Given the description of an element on the screen output the (x, y) to click on. 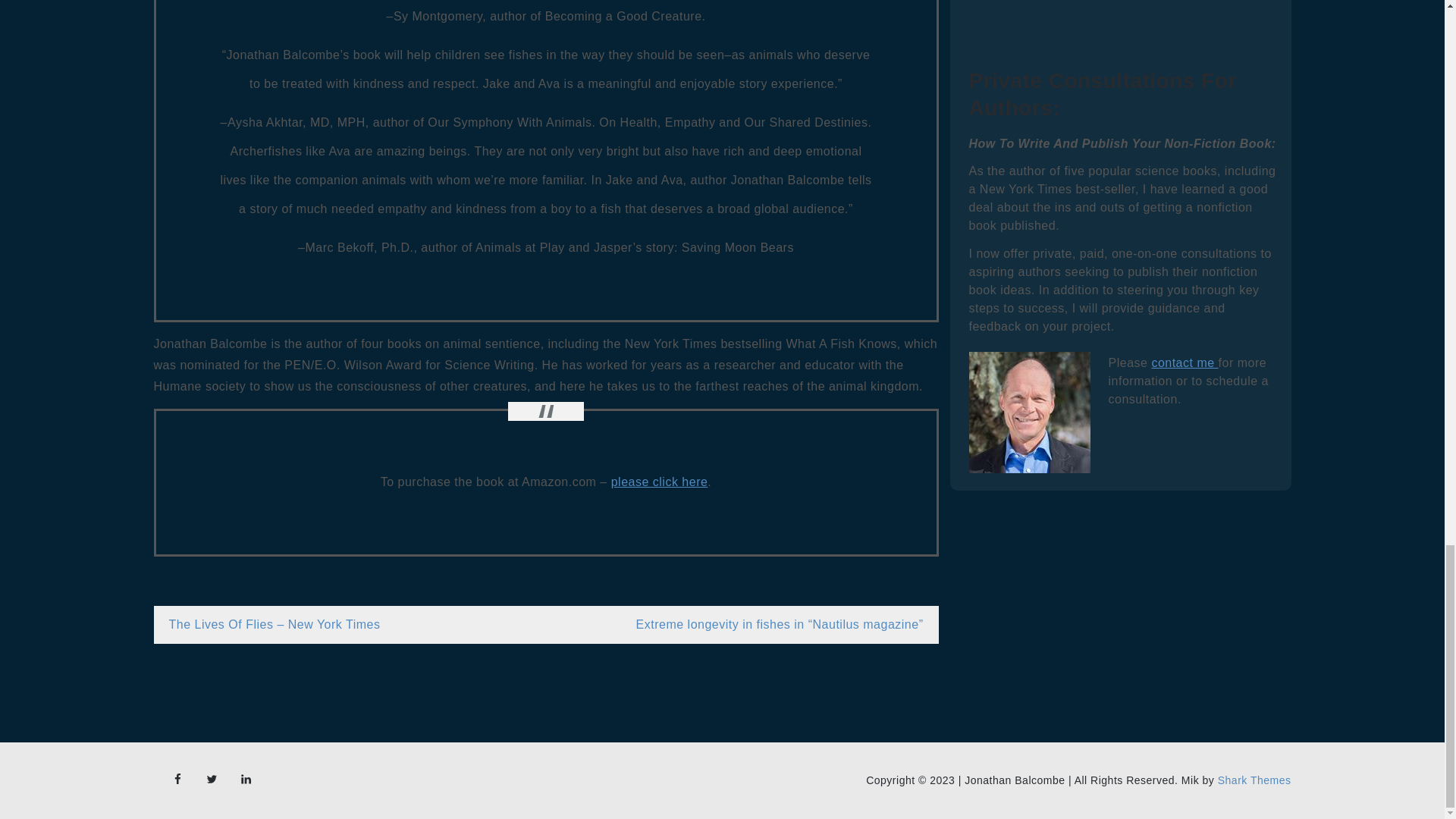
please click here (659, 481)
contact me (1184, 362)
